Given the description of an element on the screen output the (x, y) to click on. 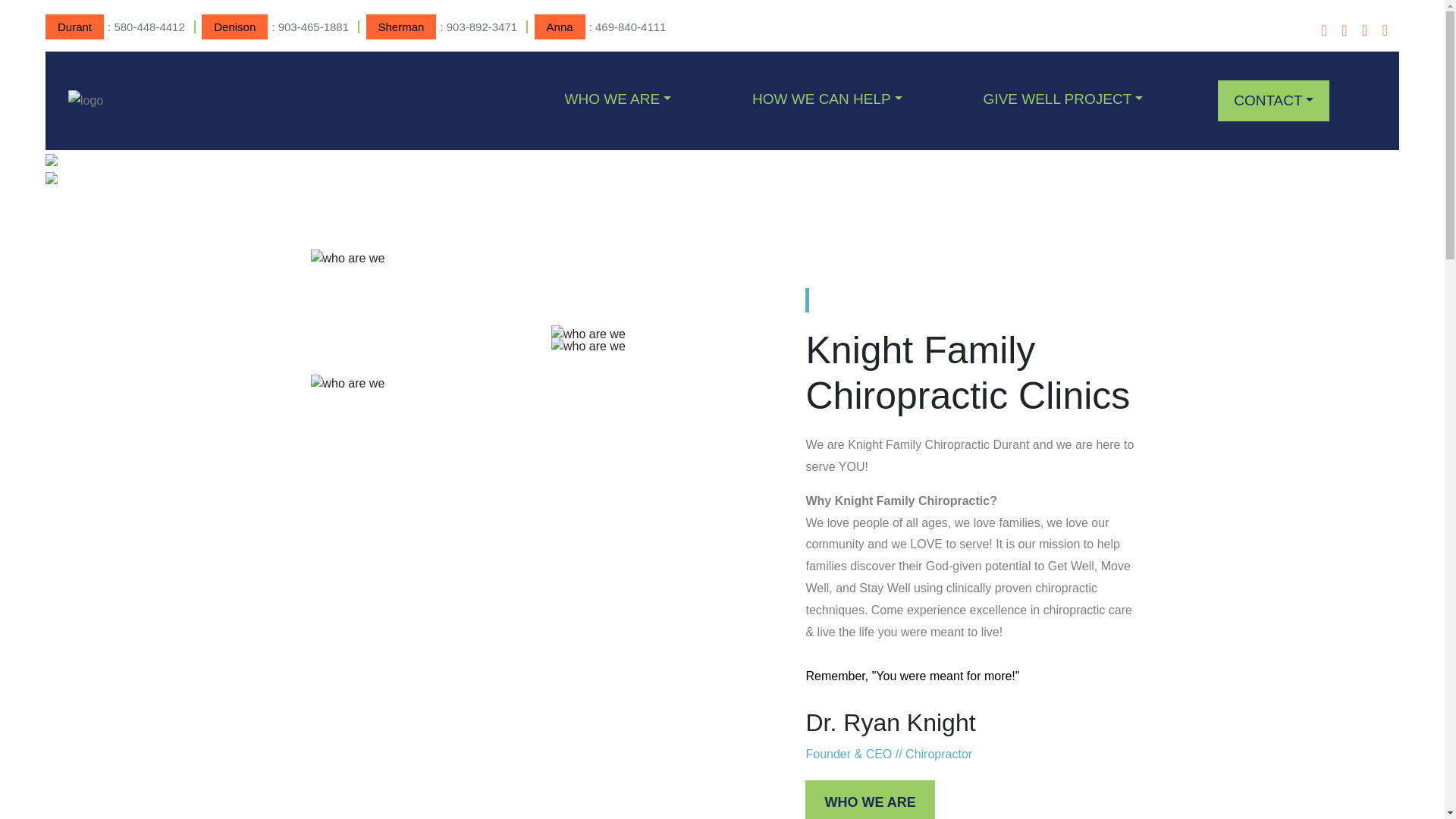
Denison (234, 26)
469-840-4111 (630, 26)
Who We Are (618, 98)
Contact (1273, 100)
Give Well Project (1063, 98)
WHO WE ARE (869, 799)
HOW WE CAN HELP (826, 98)
GIVE WELL PROJECT (1063, 98)
CONTACT (1273, 100)
Sherman (401, 26)
